Given the description of an element on the screen output the (x, y) to click on. 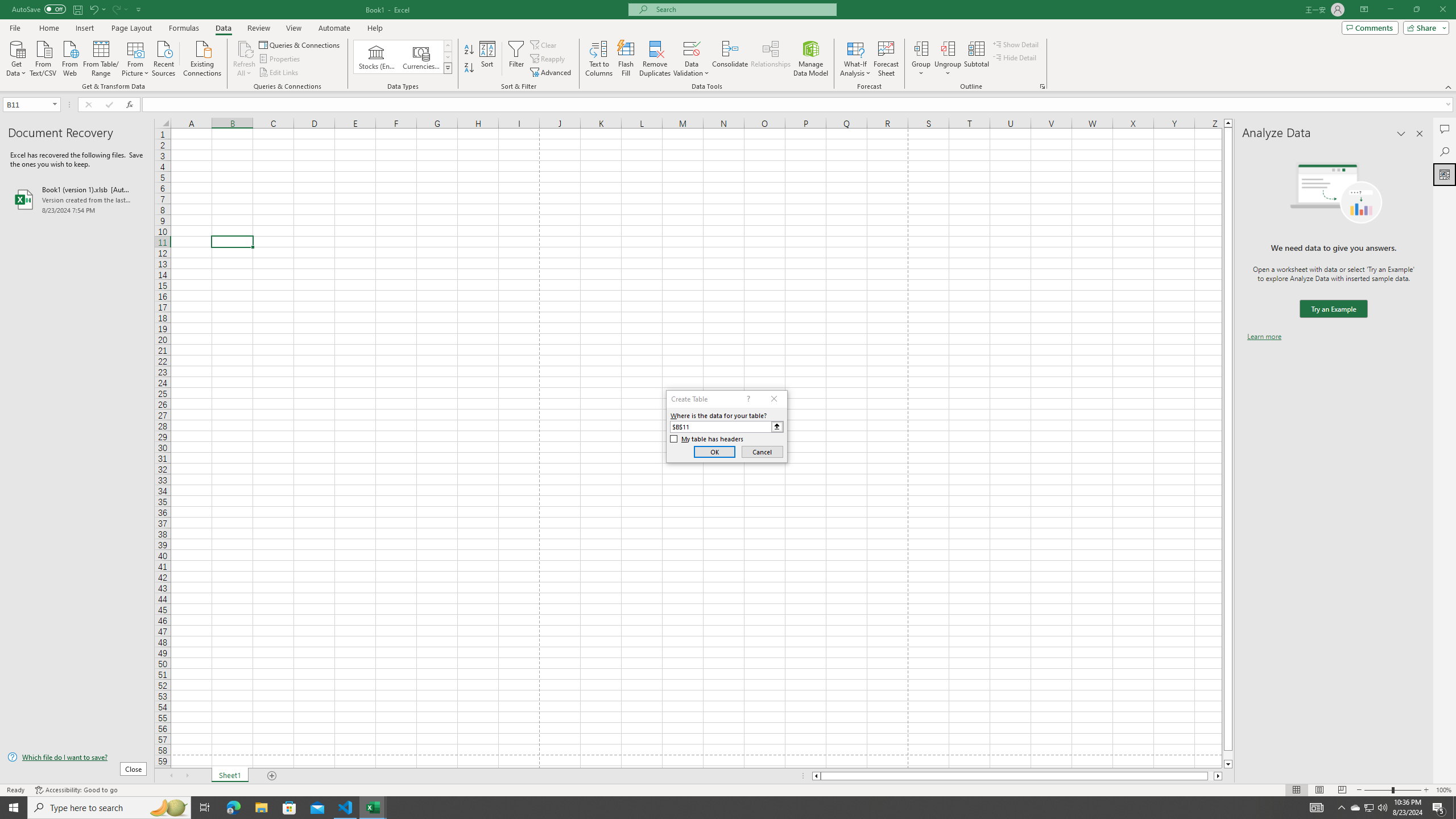
Advanced... (551, 72)
Consolidate... (729, 58)
Edit Links (279, 72)
Text to Columns... (598, 58)
Group and Outline Settings (1042, 85)
Ungroup... (947, 48)
Get Data (16, 57)
Group... (921, 58)
